Given the description of an element on the screen output the (x, y) to click on. 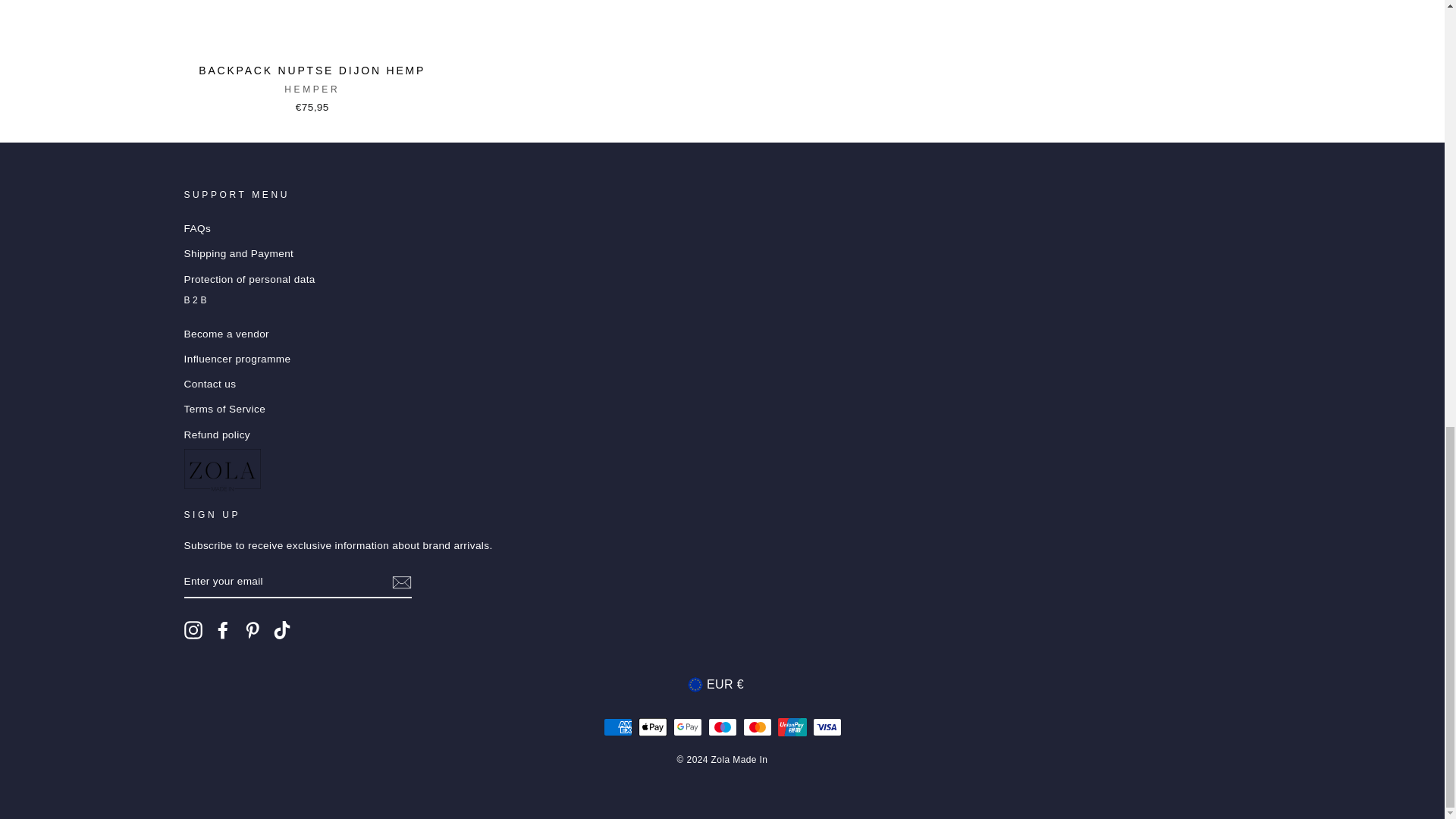
Visa (826, 727)
Union Pay (791, 727)
Maestro (721, 727)
Zola Made In on Pinterest (251, 629)
Apple Pay (652, 727)
American Express (617, 727)
Mastercard (756, 727)
Google Pay (686, 727)
Zola Made In on TikTok (282, 629)
Zola Made In on Facebook (222, 629)
Zola Made In on Instagram (192, 629)
